Given the description of an element on the screen output the (x, y) to click on. 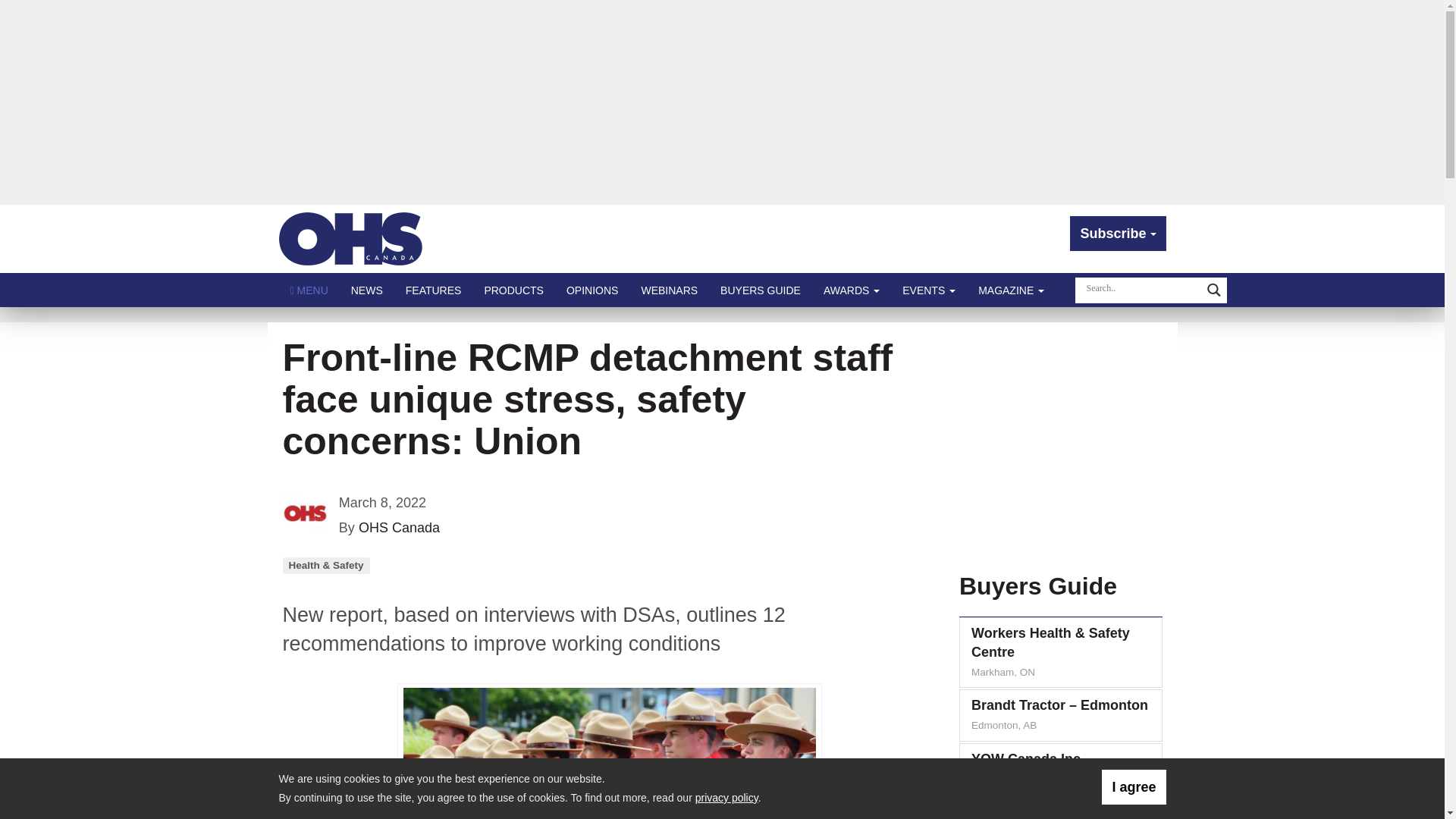
MENU (309, 289)
MAGAZINE (1010, 289)
OPINIONS (591, 289)
FEATURES (433, 289)
Click to show site navigation (309, 289)
BUYERS GUIDE (760, 289)
AWARDS (851, 289)
EVENTS (928, 289)
NEWS (366, 289)
3rd party ad content (1057, 442)
OHS Canada Magazine (351, 237)
WEBINARS (668, 289)
PRODUCTS (512, 289)
Subscribe (1118, 233)
